Given the description of an element on the screen output the (x, y) to click on. 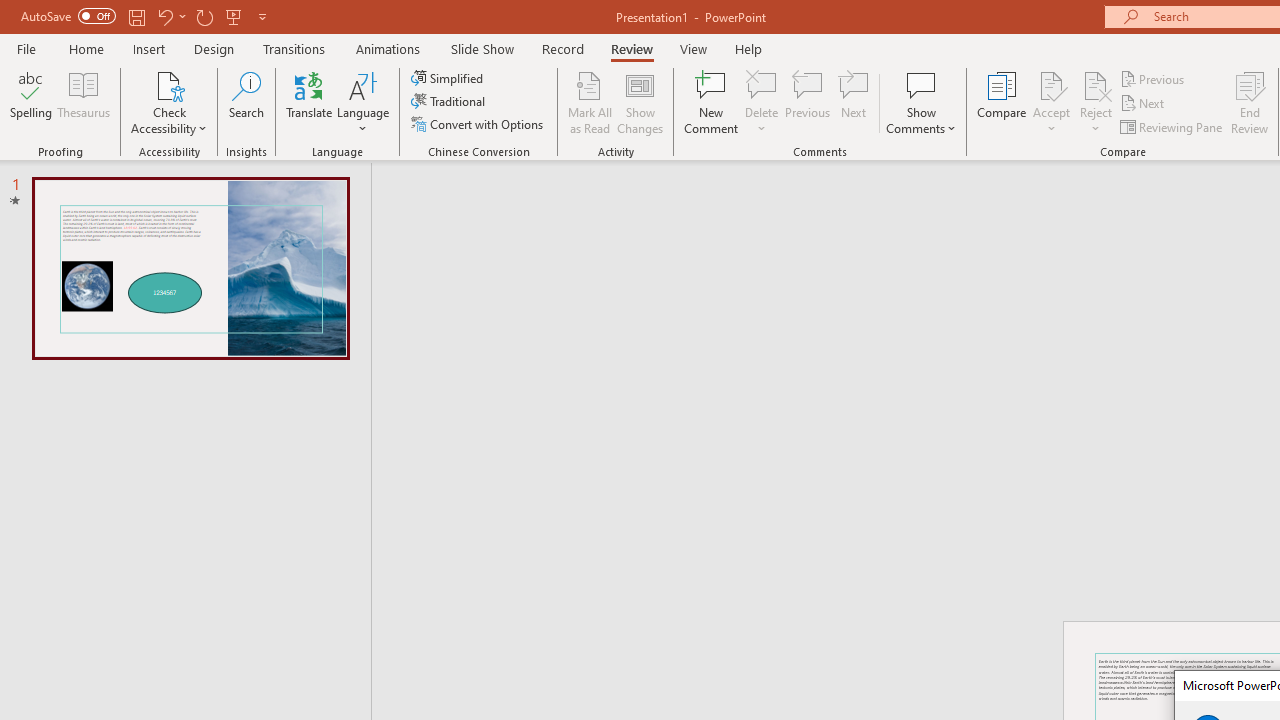
Mark All as Read (589, 102)
Show Comments (921, 84)
Language (363, 102)
Check Accessibility (169, 102)
Delete (762, 84)
Show Changes (639, 102)
Accept Change (1051, 84)
